Given the description of an element on the screen output the (x, y) to click on. 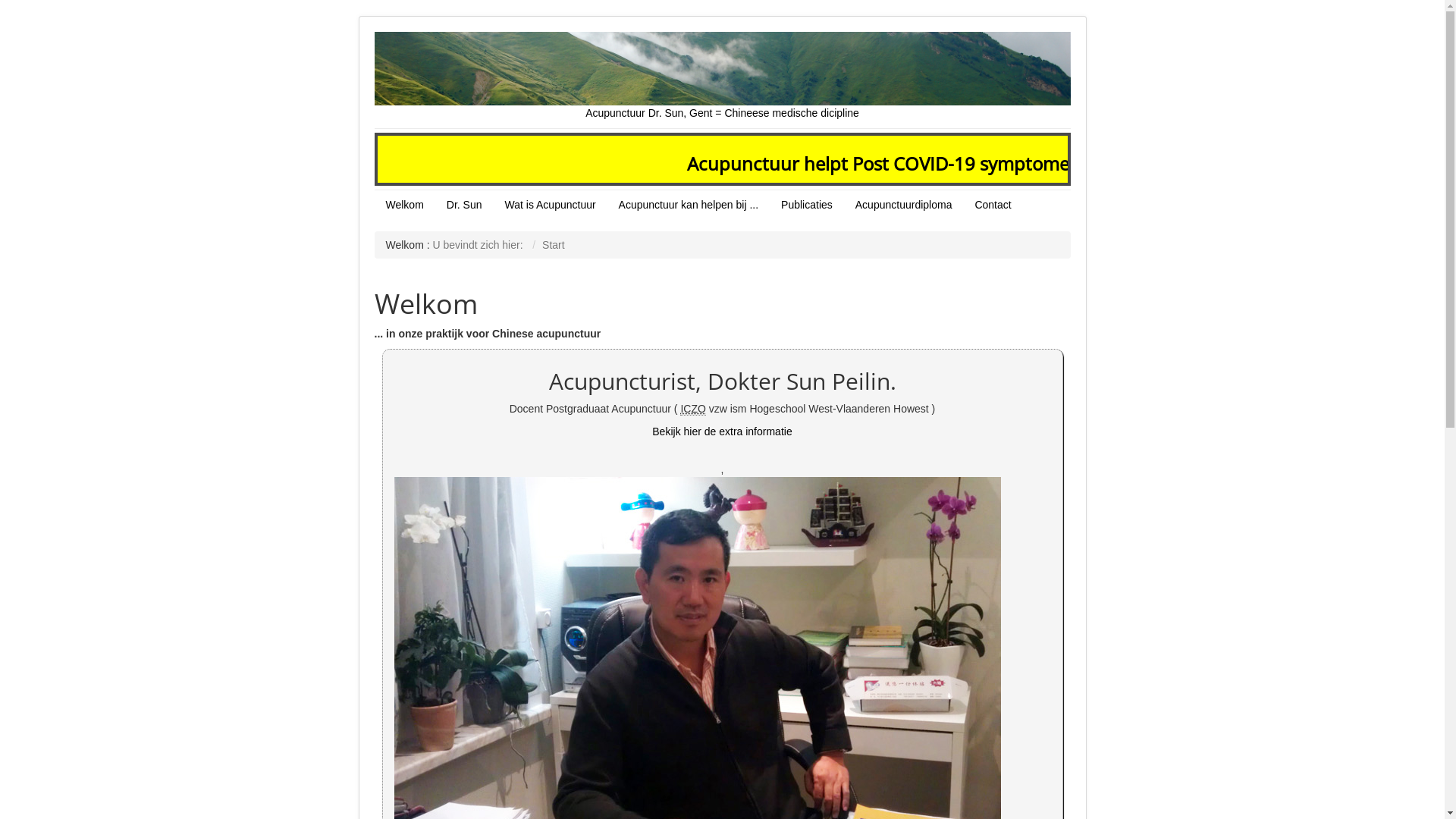
Dr. Sun Element type: text (464, 204)
Contact Element type: text (992, 204)
Publicaties Element type: text (806, 204)
Bekijk hier de extra informatie Element type: text (721, 431)
Acupunctuurdiploma Element type: text (903, 204)
Acupunctuur kan helpen bij ... Element type: text (688, 204)
Acupunctuur Dr. Sun, Gent = Chineese medische dicipline Element type: text (722, 75)
Wat is Acupunctuur Element type: text (550, 204)
Welkom Element type: text (404, 204)
